Given the description of an element on the screen output the (x, y) to click on. 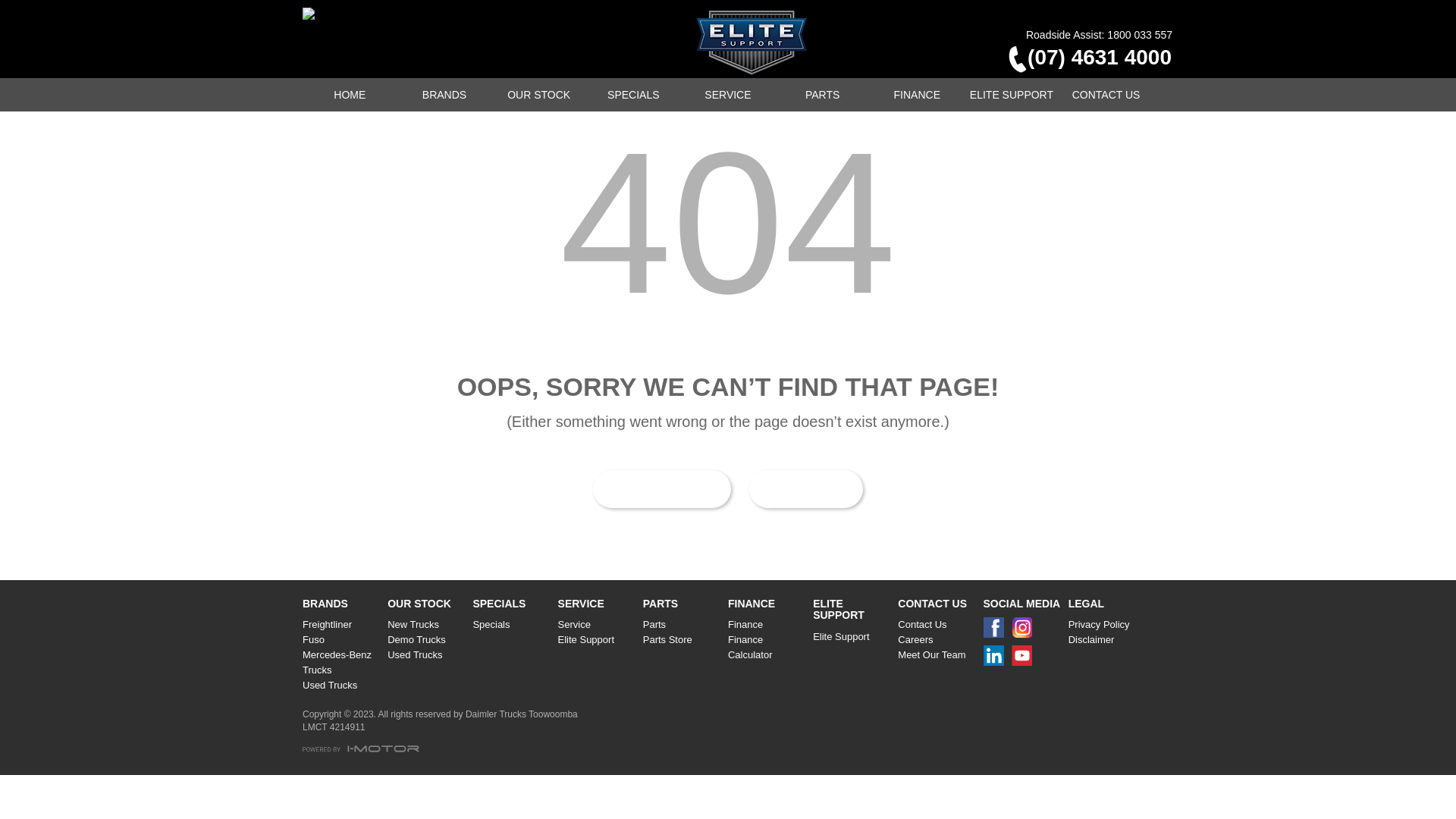
HOME Element type: text (349, 94)
SERVICE Element type: text (727, 94)
Demo Trucks Element type: text (426, 639)
Service Element type: text (597, 624)
GO BACK Element type: text (661, 489)
CONTACT US Element type: text (1105, 94)
Careers Element type: text (936, 639)
SPECIALS Element type: text (633, 94)
youtube Element type: text (1025, 659)
Used Trucks Element type: text (426, 654)
Contact Us Element type: text (936, 624)
BRANDS Element type: text (444, 94)
OUR STOCK Element type: text (538, 94)
FINANCE Element type: text (916, 94)
Elite Support Element type: text (851, 636)
instagram Element type: text (1025, 631)
Roadside Assist: 1800 033 557 Element type: text (1099, 34)
Finance Calculator Element type: text (767, 647)
Freightliner Element type: text (341, 624)
ELITE SUPPORT Element type: text (1011, 94)
Elite Support Element type: text (597, 639)
Specials Element type: text (511, 624)
Privacy Policy Element type: text (1107, 624)
(07) 4631 4000 Element type: text (1083, 61)
Finance Element type: text (767, 624)
Disclaimer Element type: text (1107, 639)
PARTS Element type: text (822, 94)
Mercedes-Benz Trucks Element type: text (341, 662)
Meet Our Team Element type: text (936, 654)
Fuso Element type: text (341, 639)
New Trucks Element type: text (426, 624)
facebook Element type: text (996, 631)
Parts Store Element type: text (682, 639)
linkedin Element type: text (996, 659)
Used Trucks Element type: text (341, 685)
Parts Element type: text (682, 624)
HOME Element type: text (805, 489)
